Given the description of an element on the screen output the (x, y) to click on. 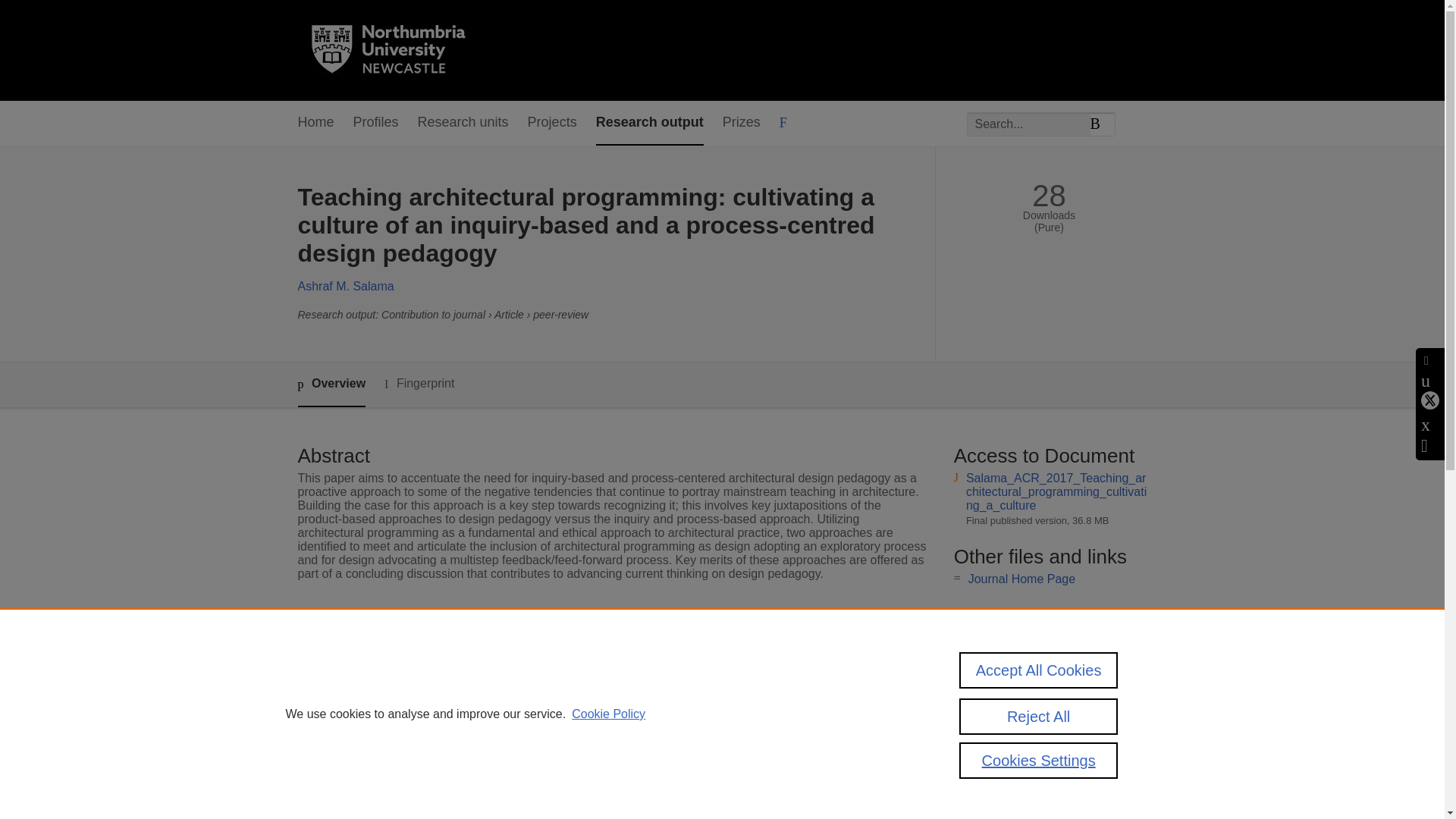
Research units (462, 122)
Ashraf M. Salama (345, 286)
Overview (331, 384)
Research output (649, 122)
Fingerprint (419, 383)
Architecture and Construction of Russia (613, 664)
Profiles (375, 122)
Projects (551, 122)
Journal Home Page (1021, 578)
